Given the description of an element on the screen output the (x, y) to click on. 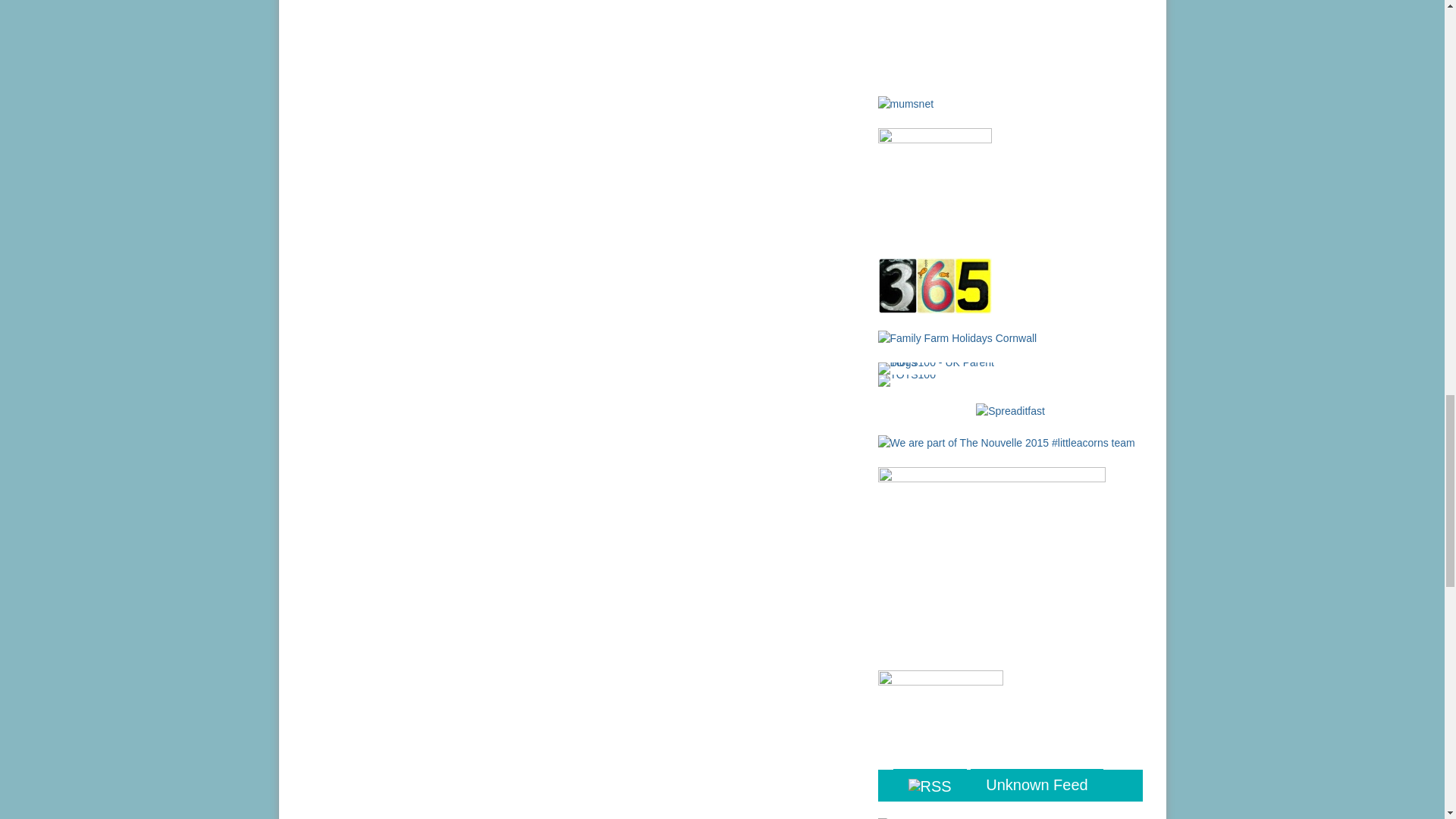
TOTS100 - UK Parent Blogs (940, 368)
TOTS 100 - UK Parent Blogs (940, 367)
Family Farm Holidays Cornwall (956, 337)
TOTS100 (906, 379)
Family Farm Holidays Cornwall (956, 338)
TheBoyandMe's 365 Linky (934, 285)
